Given the description of an element on the screen output the (x, y) to click on. 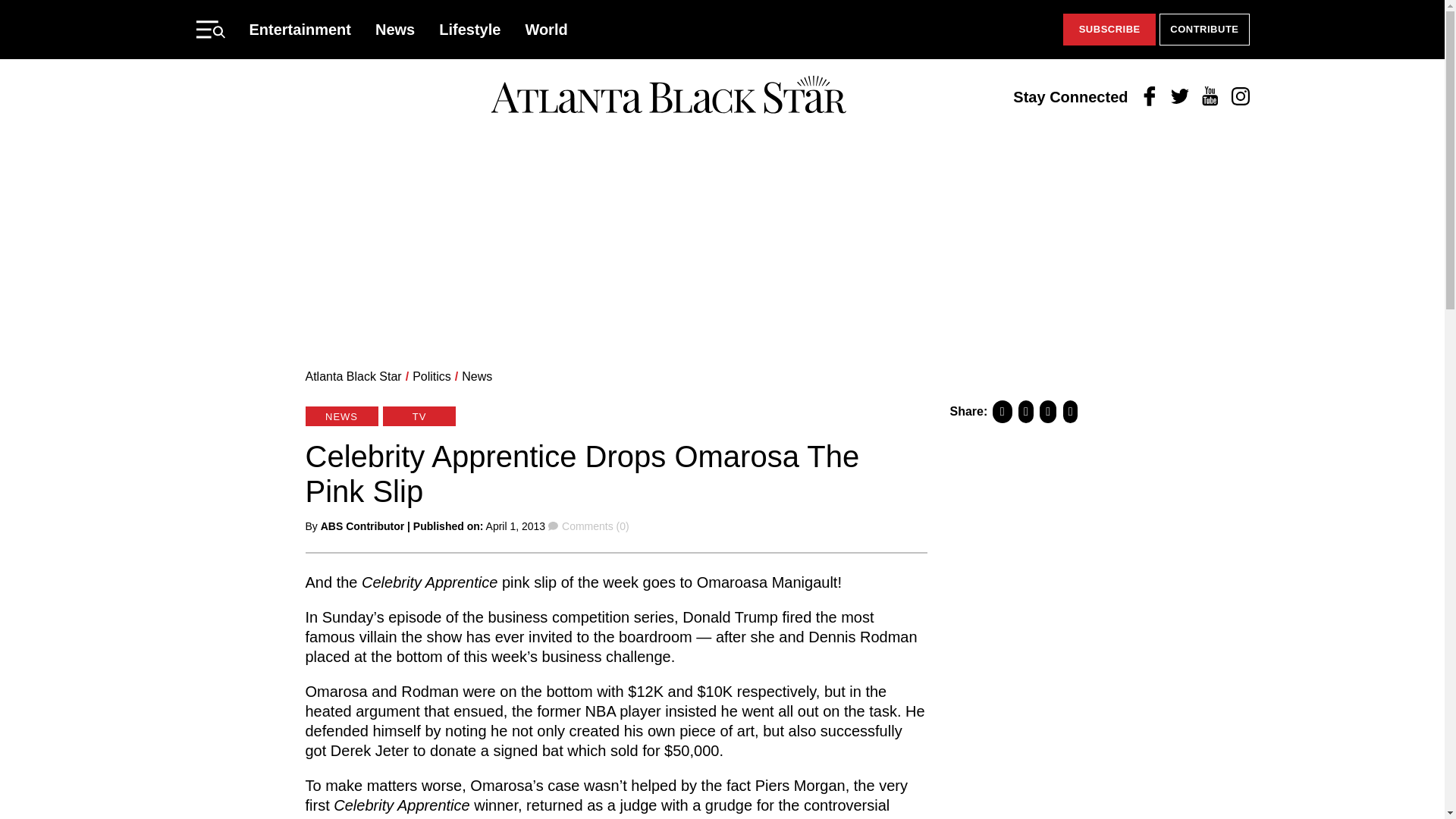
NEWS (340, 415)
SUBSCRIBE (1109, 29)
Atlanta Black Star (352, 376)
Politics (431, 376)
Go to the News Category archives. (476, 376)
World (545, 29)
CONTRIBUTE (1203, 29)
News (476, 376)
News (394, 29)
TV (418, 415)
